Given the description of an element on the screen output the (x, y) to click on. 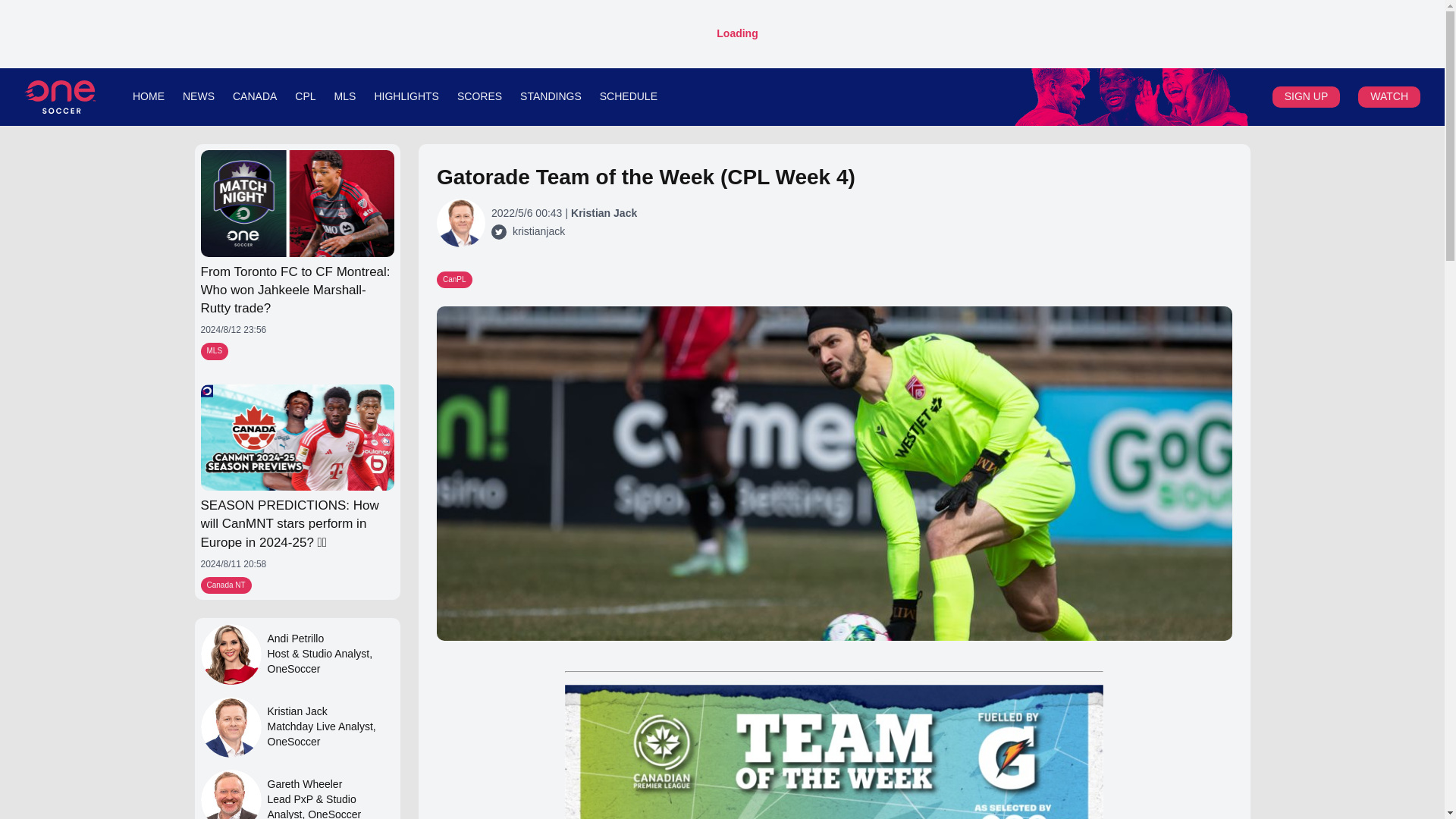
SIGN UP (1305, 96)
SCORES (479, 96)
SCHEDULE (628, 96)
Kristian Jack (329, 711)
HOME (148, 96)
STANDINGS (549, 96)
HIGHLIGHTS (406, 96)
Andi Petrillo (230, 654)
CPL (305, 96)
Canadian Premier League (1130, 96)
